Given the description of an element on the screen output the (x, y) to click on. 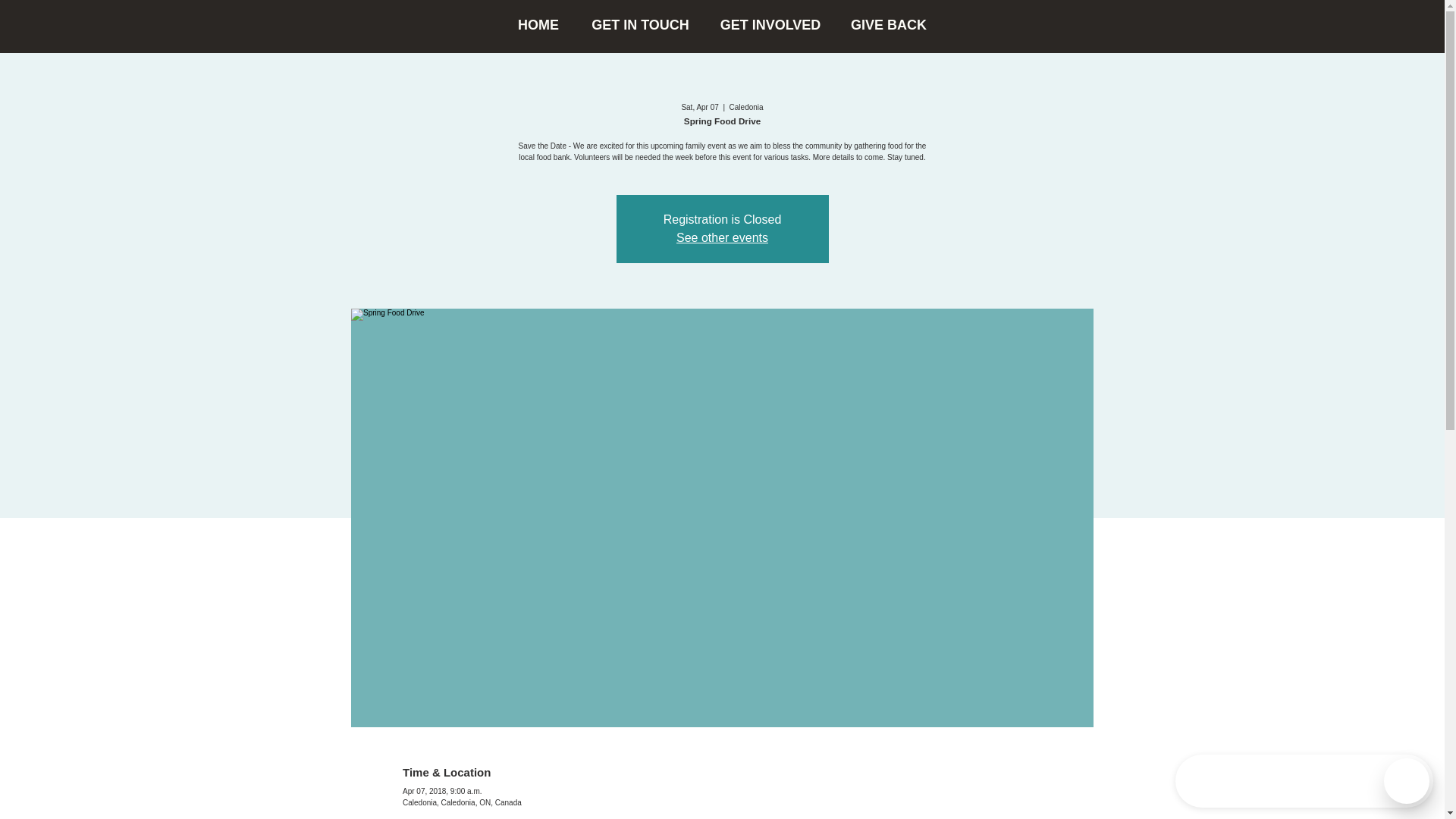
HOME (537, 24)
See other events (722, 237)
